Given the description of an element on the screen output the (x, y) to click on. 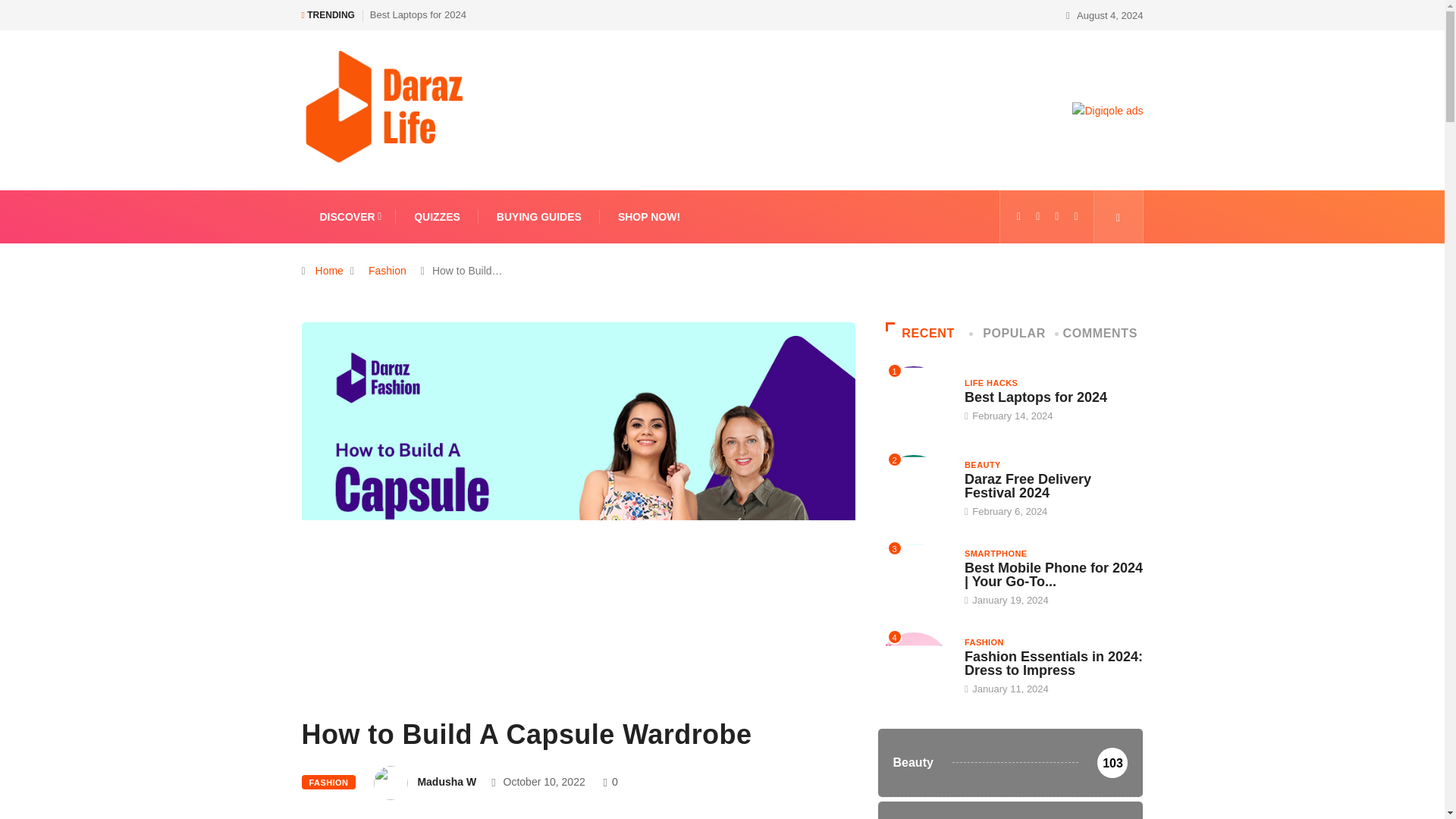
SHOP NOW! (648, 216)
DISCOVER (349, 216)
Home (329, 270)
Best Laptops for 2024 (417, 14)
popup modal for search (1117, 216)
Madusha W (446, 781)
FASHION (328, 781)
Fashion (387, 270)
BUYING GUIDES (538, 216)
